Given the description of an element on the screen output the (x, y) to click on. 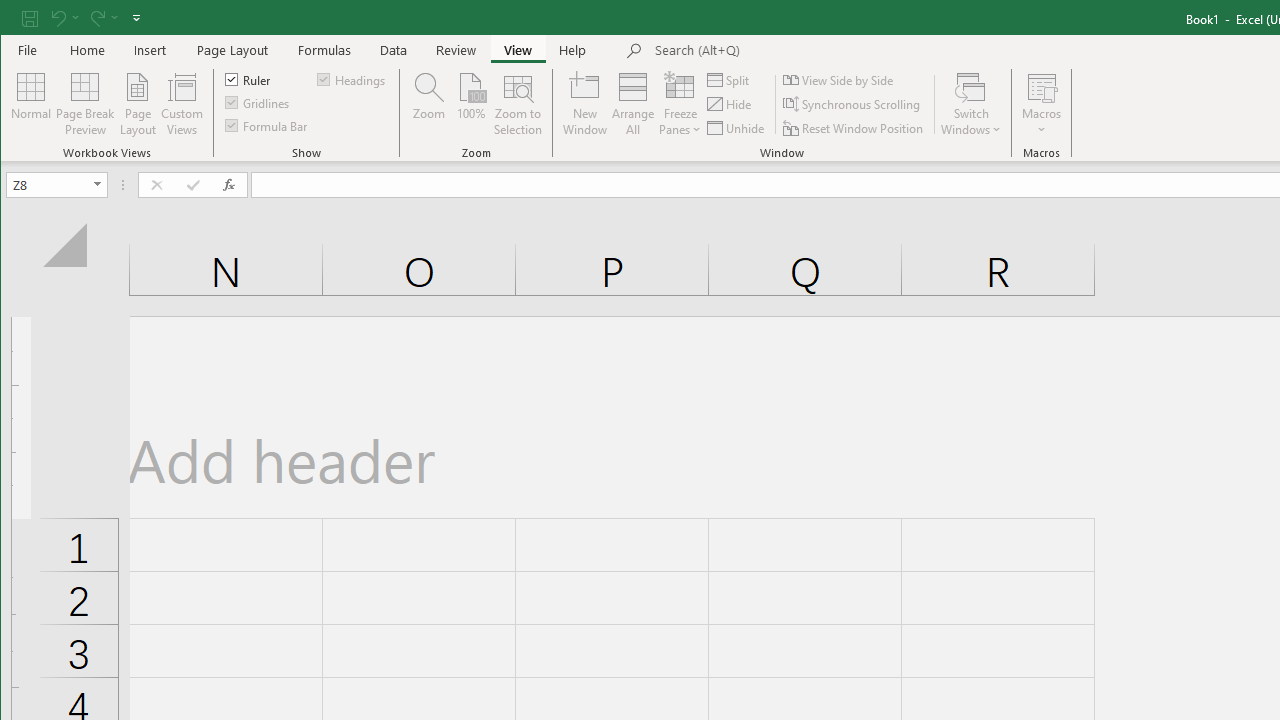
Zoom... (429, 104)
Normal (30, 104)
Unhide... (737, 127)
Gridlines (258, 101)
Zoom to Selection (518, 104)
Custom Views... (182, 104)
View Side by Side (839, 80)
Review (456, 50)
View Macros (1041, 86)
Synchronous Scrolling (852, 103)
Freeze Panes (680, 104)
